Given the description of an element on the screen output the (x, y) to click on. 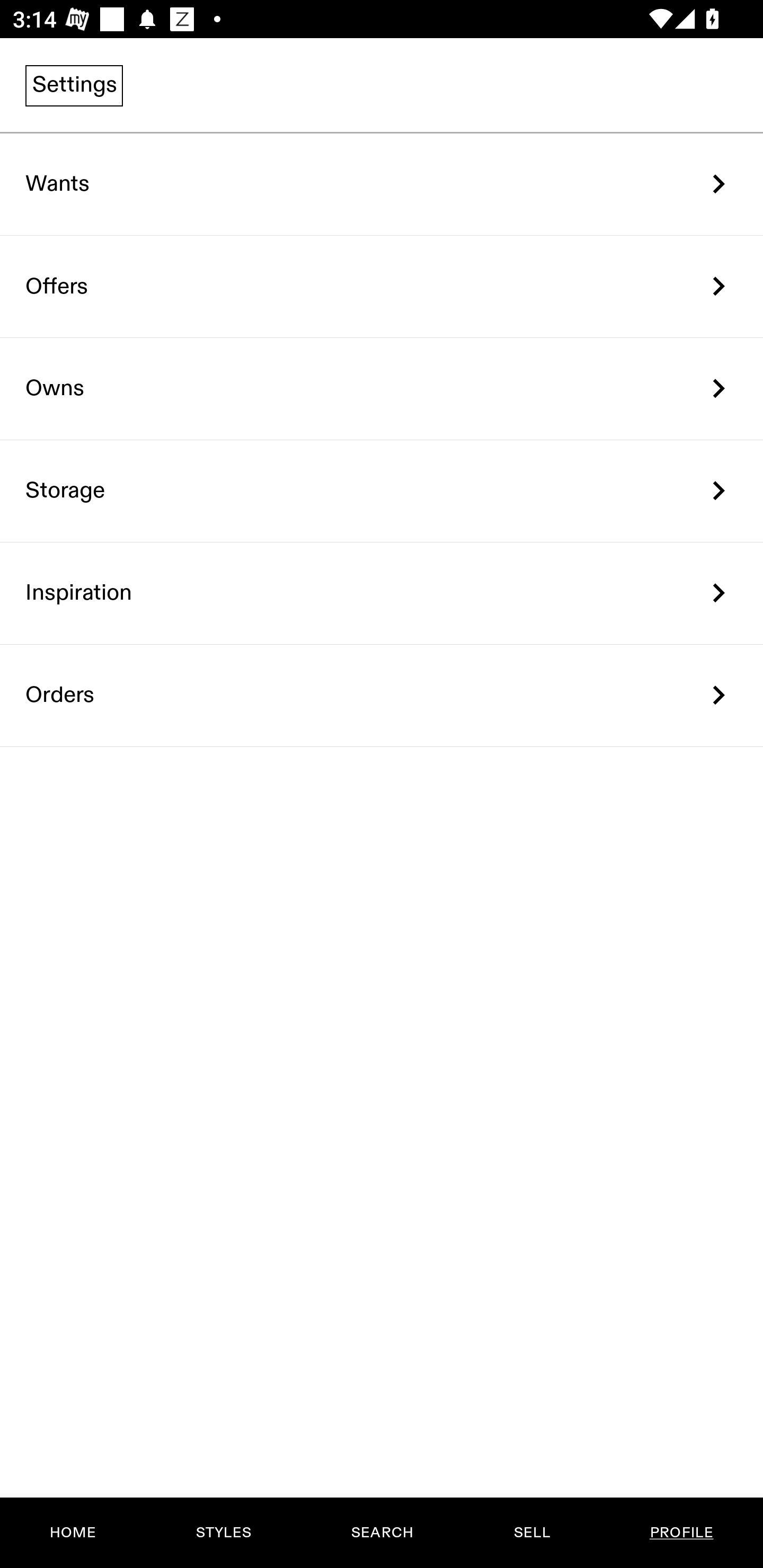
Settings (73, 85)
Wants (381, 184)
Offers (381, 286)
Owns (381, 388)
Storage (381, 491)
Inspiration (381, 593)
Orders (381, 695)
HOME (72, 1532)
STYLES (222, 1532)
SEARCH (381, 1532)
SELL (531, 1532)
PROFILE (681, 1532)
